Given the description of an element on the screen output the (x, y) to click on. 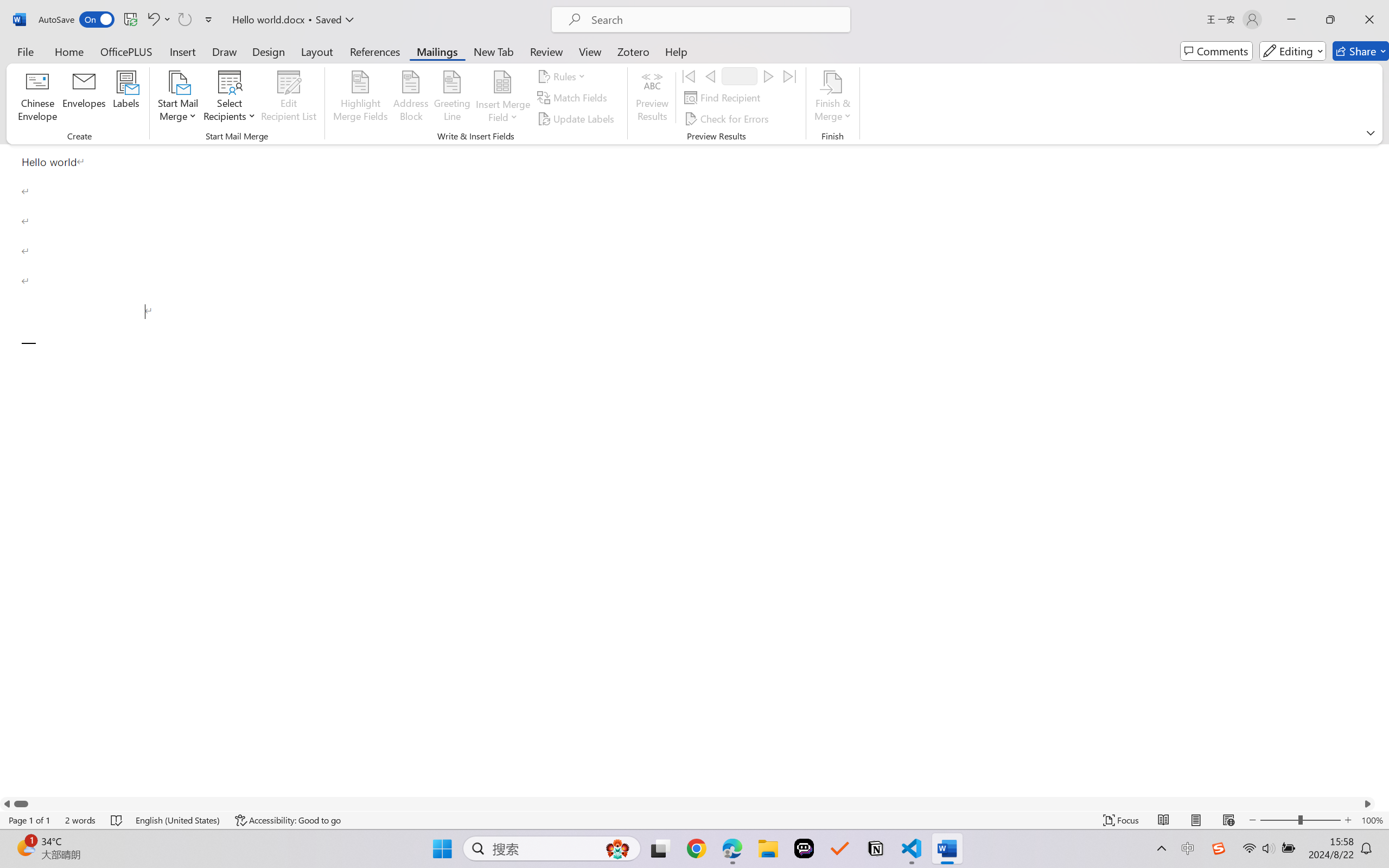
Minimize (1291, 19)
Class: NetUIScrollBar (687, 803)
Comments (1216, 50)
Accessibility Checker Accessibility: Good to go (288, 819)
Quick Access Toolbar (127, 19)
Ribbon Display Options (1370, 132)
Close (1369, 19)
New Tab (493, 51)
Labels... (126, 97)
Edit Recipient List... (288, 97)
Zoom (1300, 819)
Design (268, 51)
Can't Repeat (184, 19)
Read Mode (1163, 819)
